Given the description of an element on the screen output the (x, y) to click on. 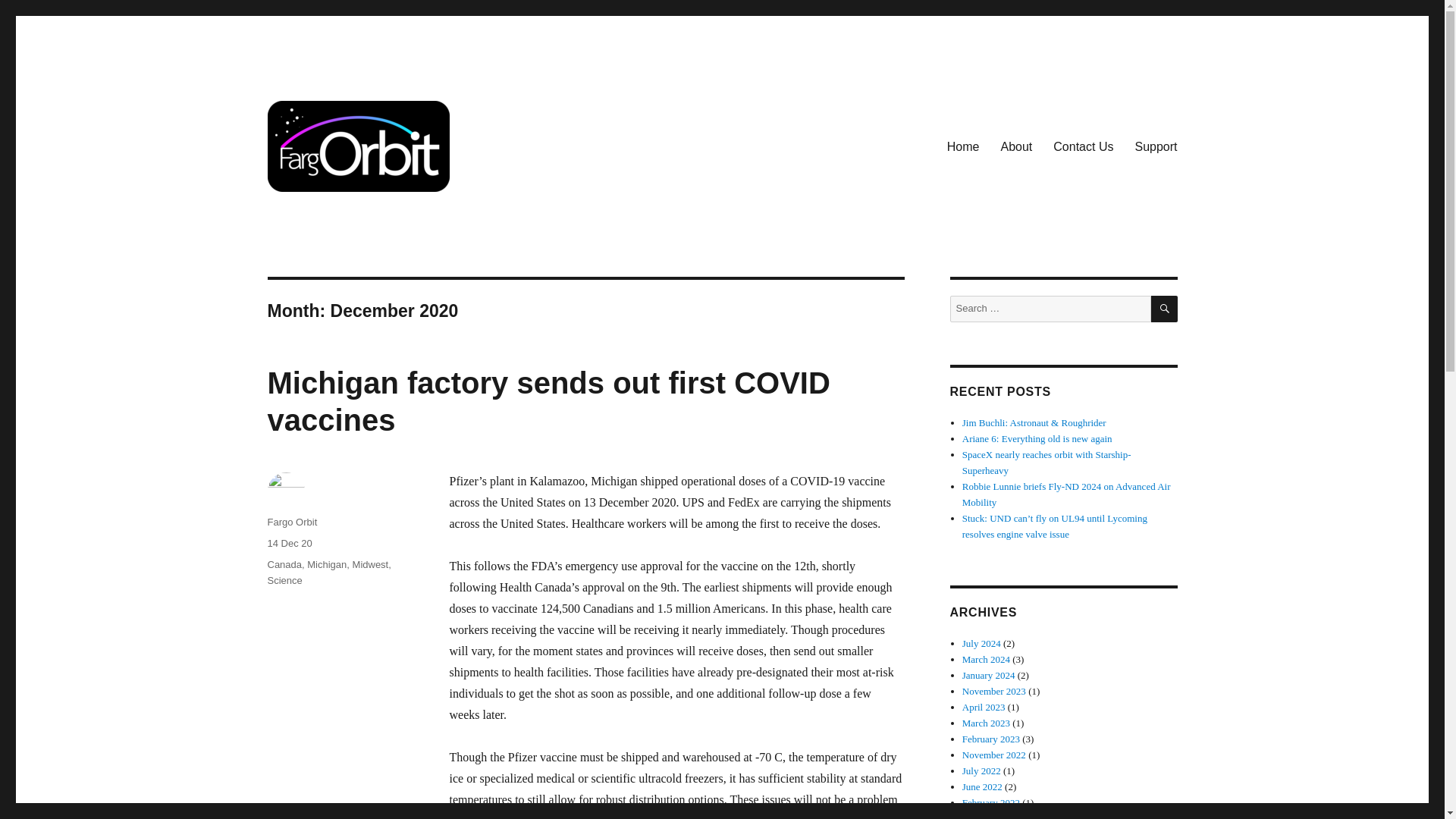
March 2024 (986, 659)
December 2021 (993, 816)
Michigan (326, 564)
14 Dec 20 (288, 542)
About (1016, 146)
Home (963, 146)
March 2023 (986, 722)
January 2024 (988, 674)
Fargo Orbit (291, 521)
July 2024 (981, 643)
June 2022 (982, 786)
Midwest (370, 564)
Robbie Lunnie briefs Fly-ND 2024 on Advanced Air Mobility (1066, 493)
Canada (283, 564)
July 2022 (981, 770)
